Given the description of an element on the screen output the (x, y) to click on. 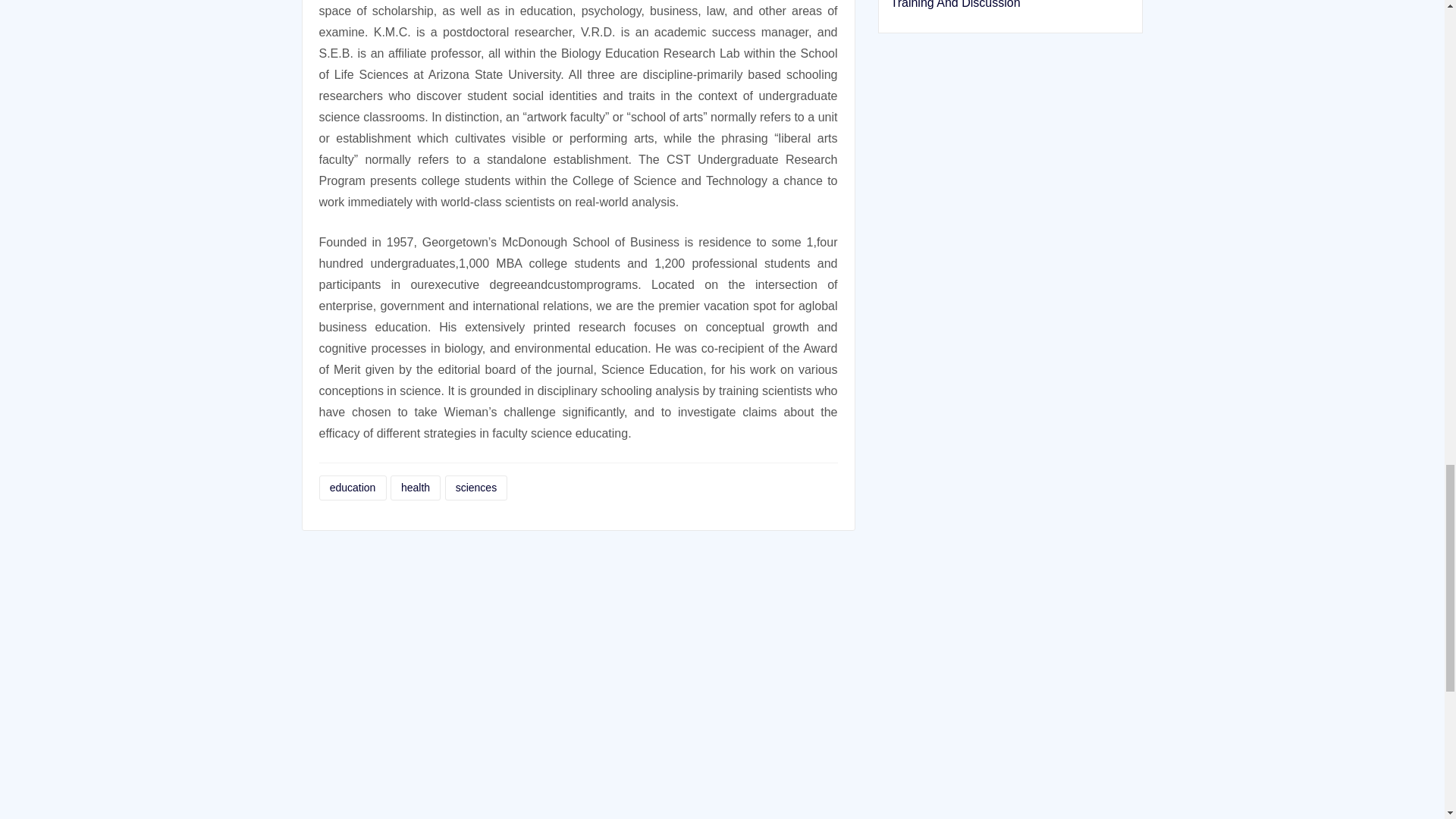
health (415, 487)
sciences (475, 487)
education (351, 487)
